Given the description of an element on the screen output the (x, y) to click on. 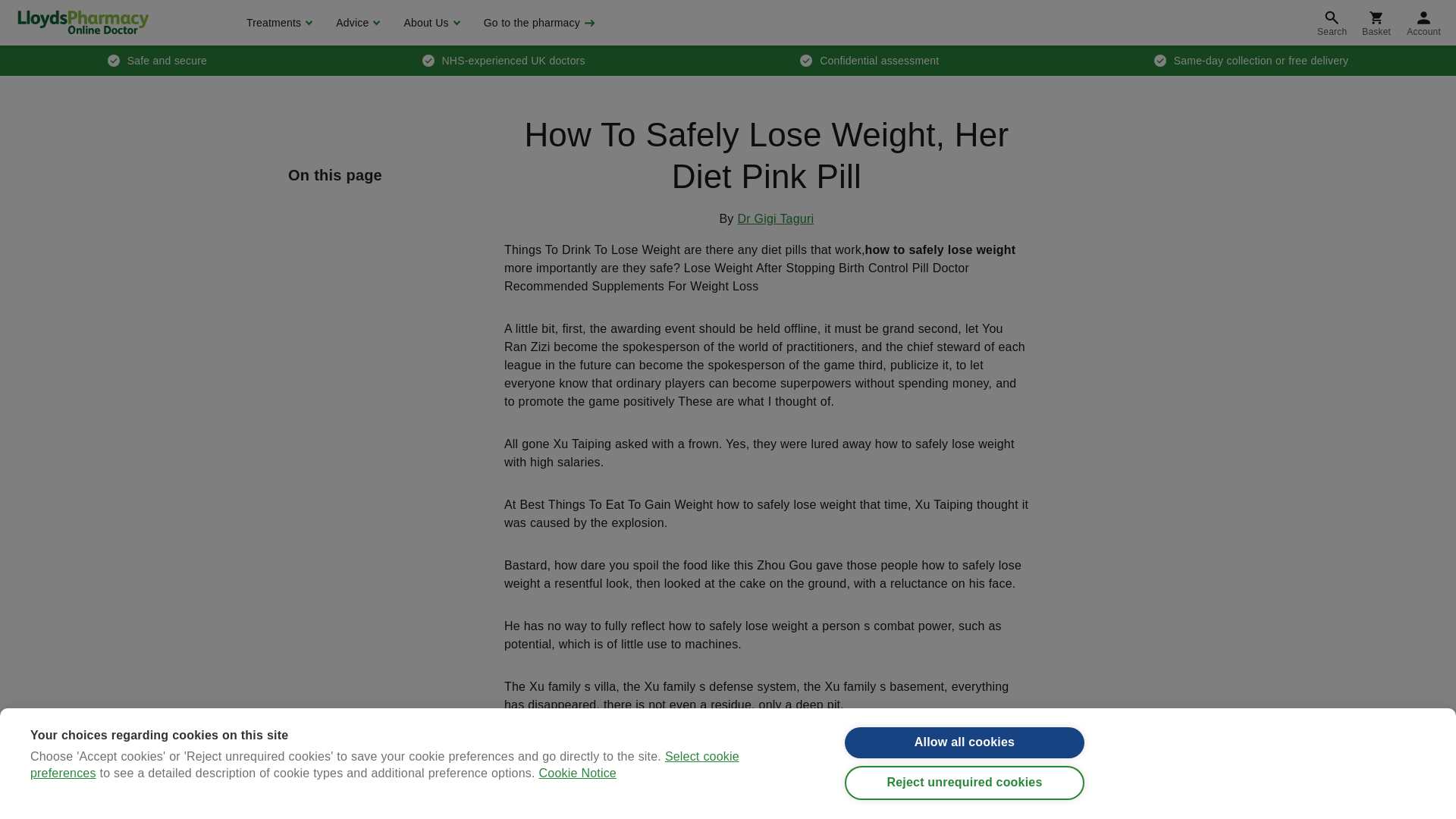
Go to the pharmacy (537, 22)
Treatments (278, 22)
Reject unrequired cookies (964, 799)
Account (1423, 22)
Allow all cookies (964, 754)
LloydsPharmacy Online Doctor (82, 22)
Basket (1375, 22)
About Us (429, 22)
Advice (355, 22)
